Given the description of an element on the screen output the (x, y) to click on. 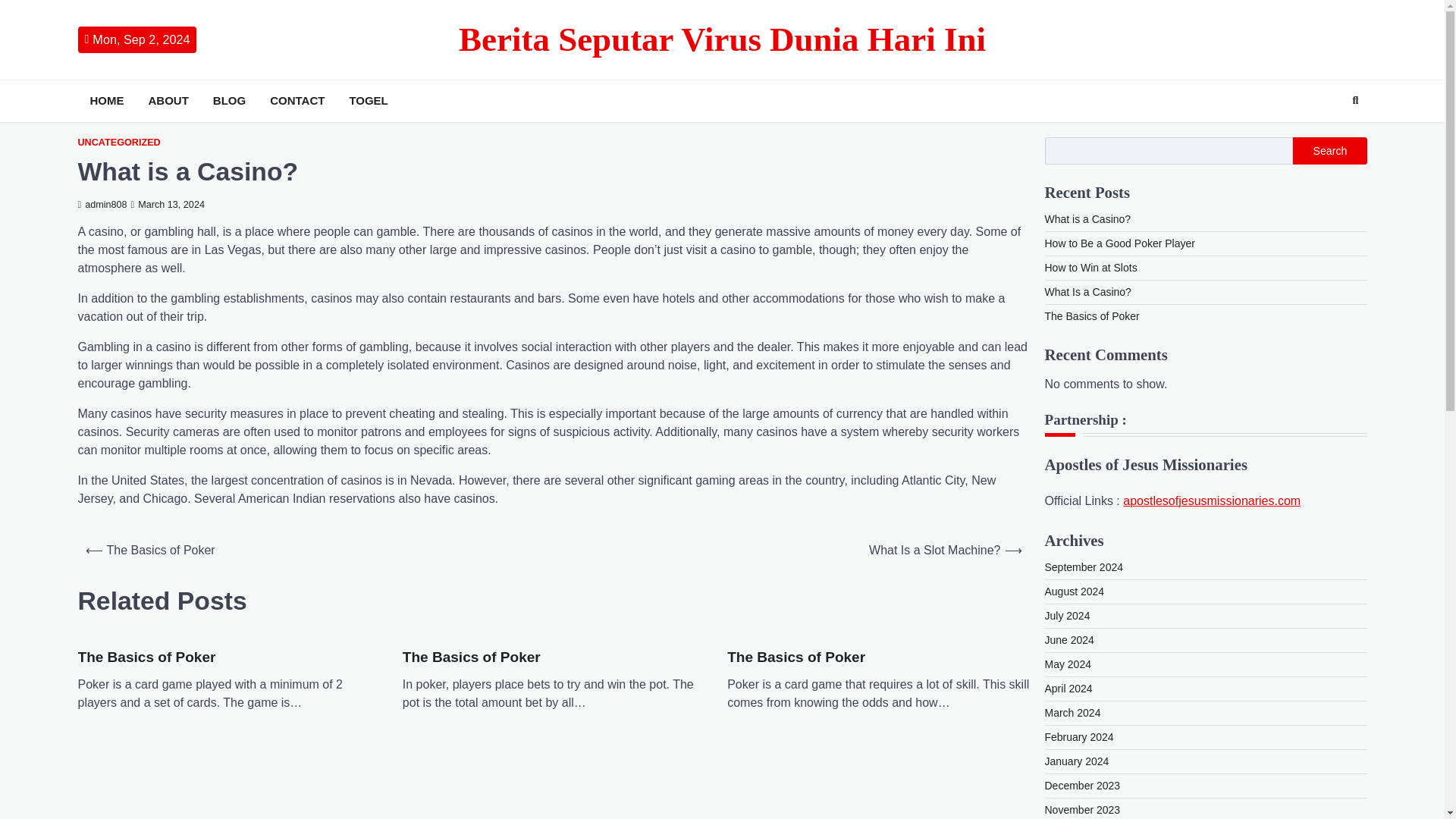
TOGEL (367, 100)
CONTACT (296, 100)
admin808 (101, 204)
January 2024 (1077, 761)
apostlesofjesusmissionaries.com (1211, 500)
March 13, 2024 (168, 204)
The Basics of Poker (795, 658)
April 2024 (1069, 688)
How to Win at Slots (1091, 267)
Search (1355, 100)
